Given the description of an element on the screen output the (x, y) to click on. 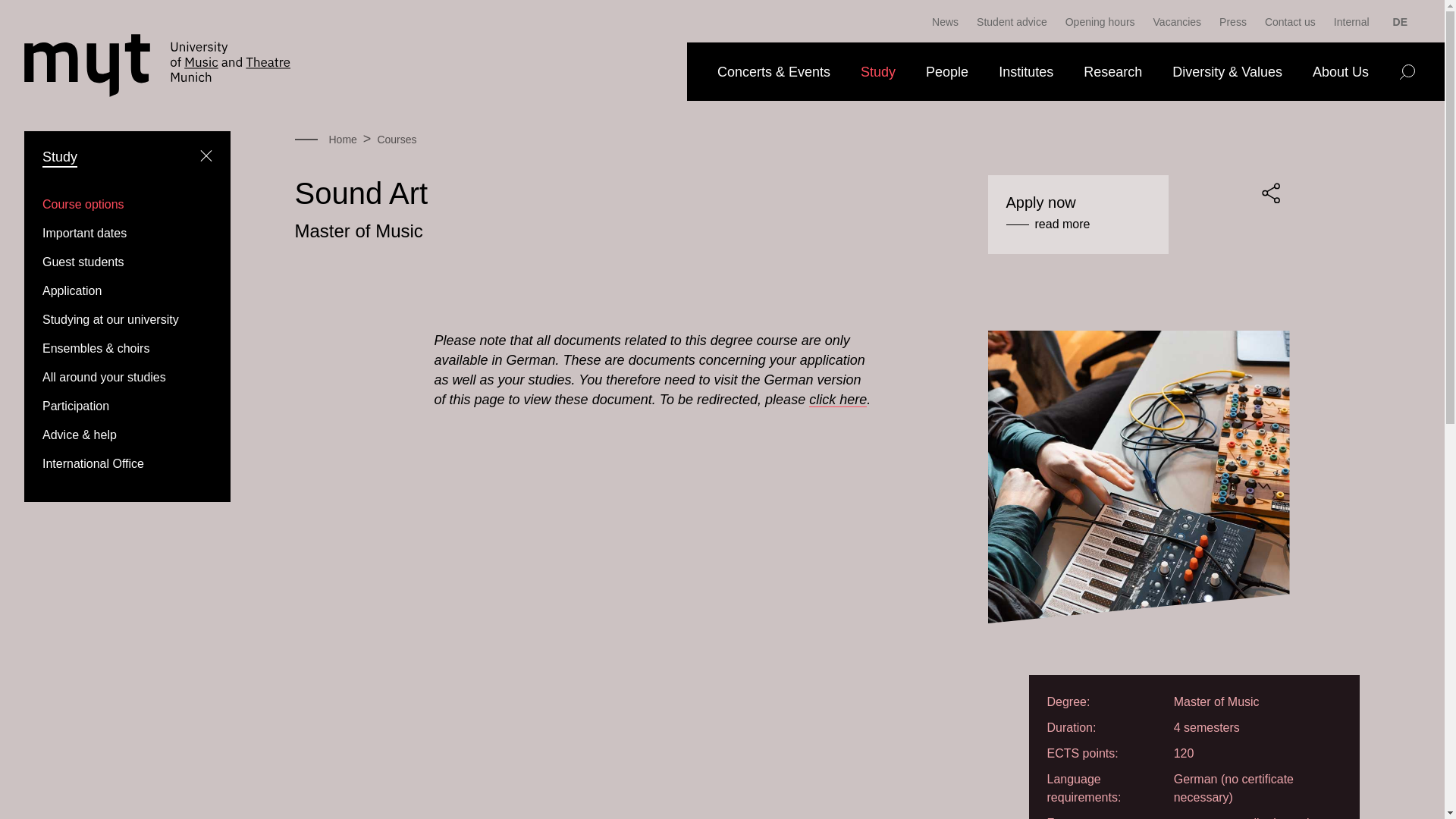
Important dates (84, 232)
Participation (75, 405)
International Office (93, 463)
Course options (82, 204)
Studying at our university (110, 318)
All around your studies (103, 377)
Student advice (1011, 21)
Application (71, 290)
News (944, 21)
Guest students (82, 261)
